Given the description of an element on the screen output the (x, y) to click on. 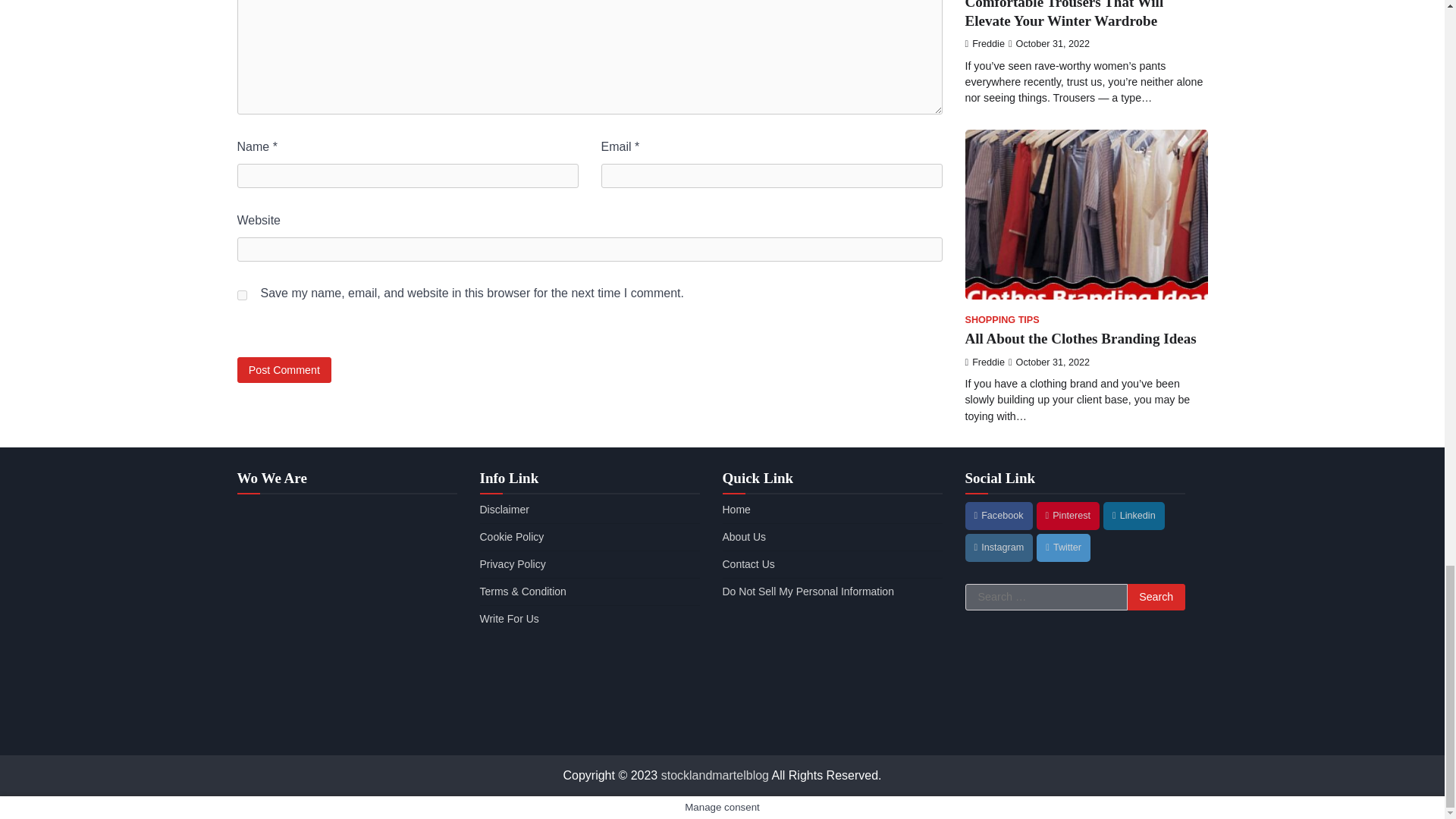
Post Comment (283, 369)
Search (1155, 596)
Search (1155, 596)
yes (240, 295)
DMCA.com Protection Status (832, 727)
Post Comment (283, 369)
